Given the description of an element on the screen output the (x, y) to click on. 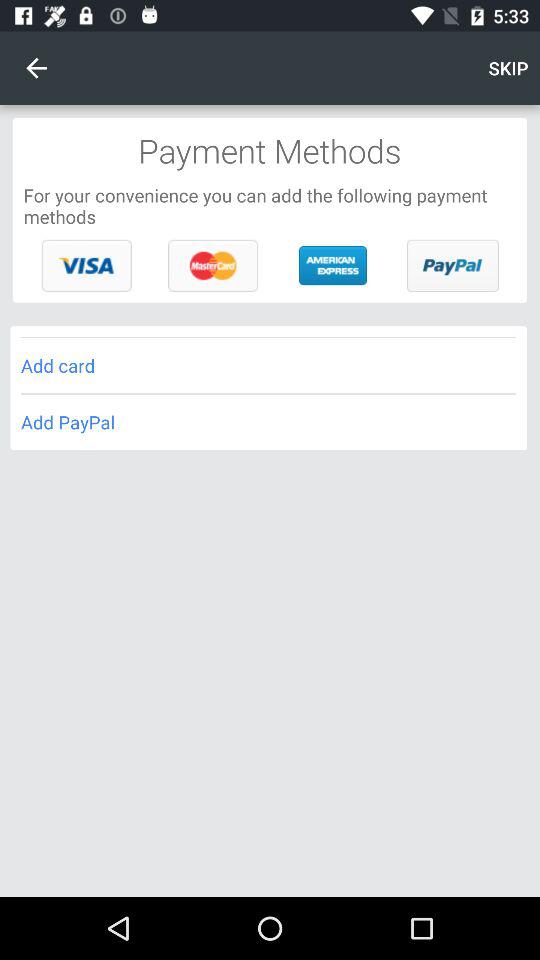
turn on item above payment methods (508, 67)
